Given the description of an element on the screen output the (x, y) to click on. 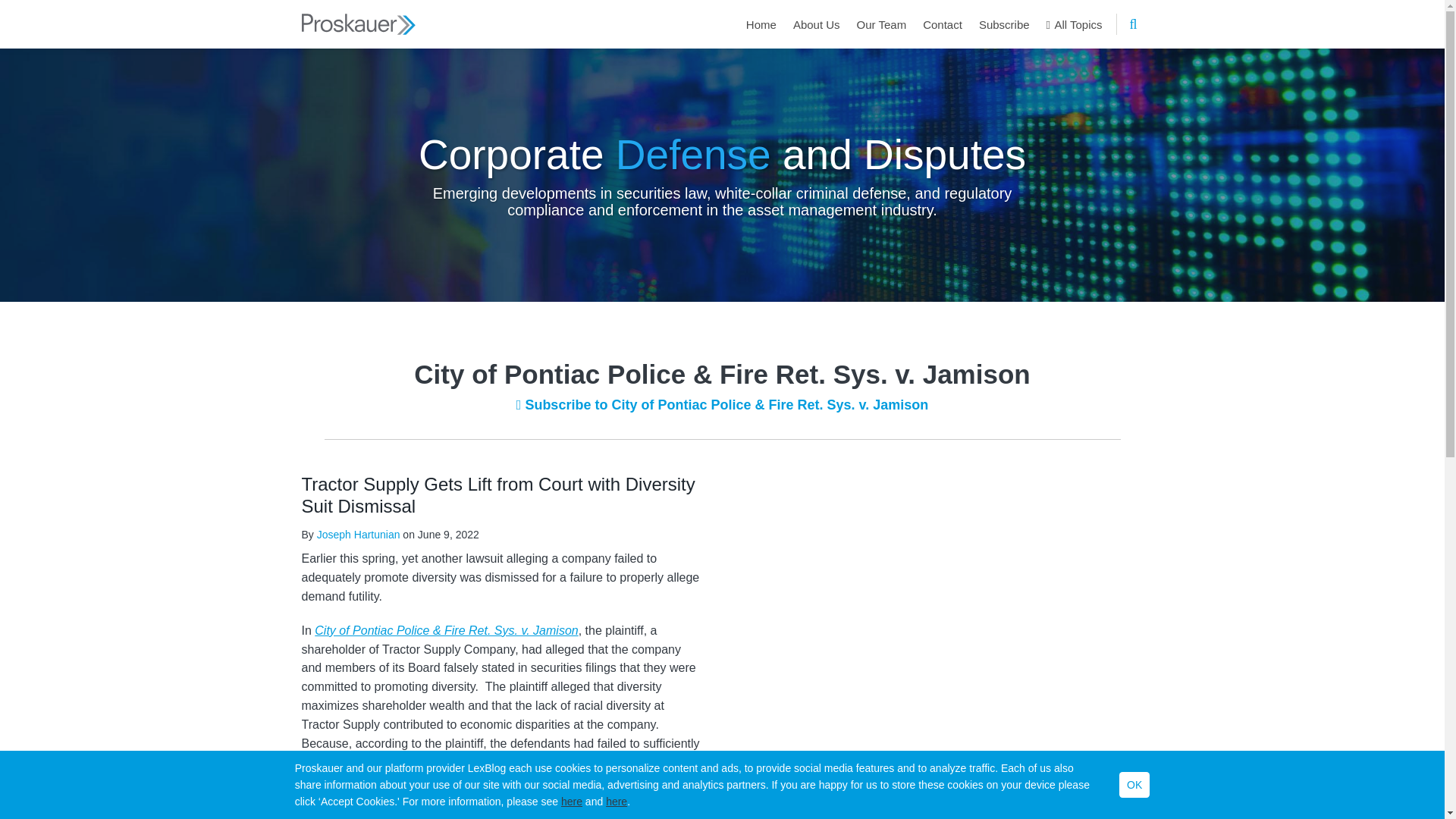
Home (760, 24)
OK (1134, 784)
Subscribe (1003, 24)
here (571, 801)
Our Team (882, 24)
All Topics (1074, 24)
here (616, 801)
Corporate Defense and Disputes (722, 153)
Joseph Hartunian (358, 534)
About Us (816, 24)
Contact (942, 24)
